Given the description of an element on the screen output the (x, y) to click on. 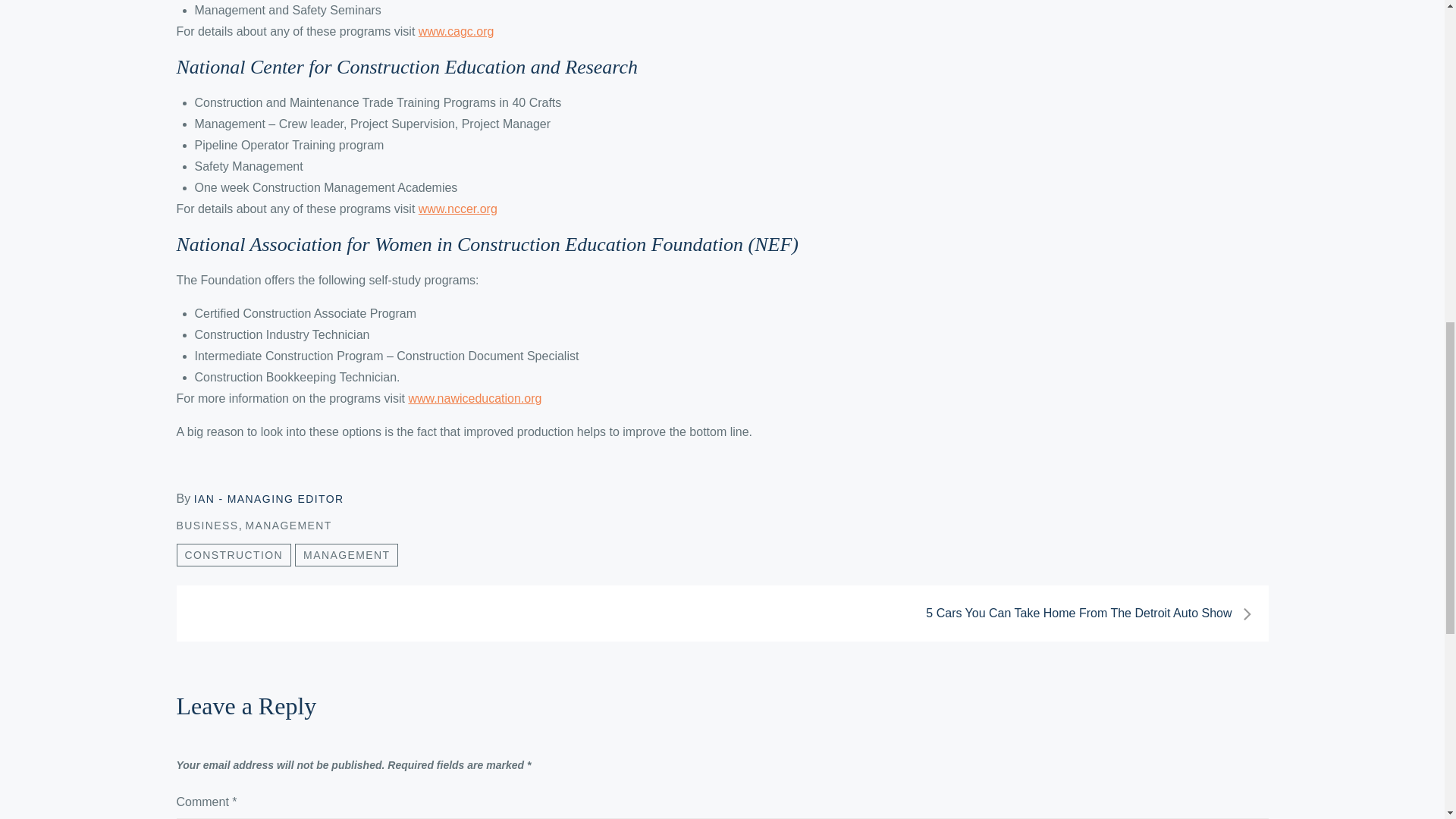
www.nccer.org (458, 208)
BUSINESS (207, 525)
www.cagc.org (457, 31)
MANAGEMENT (287, 525)
CONSTRUCTION (233, 554)
MANAGEMENT (346, 554)
IAN - MANAGING EDITOR (268, 499)
www.nawiceducation.org (474, 398)
